Given the description of an element on the screen output the (x, y) to click on. 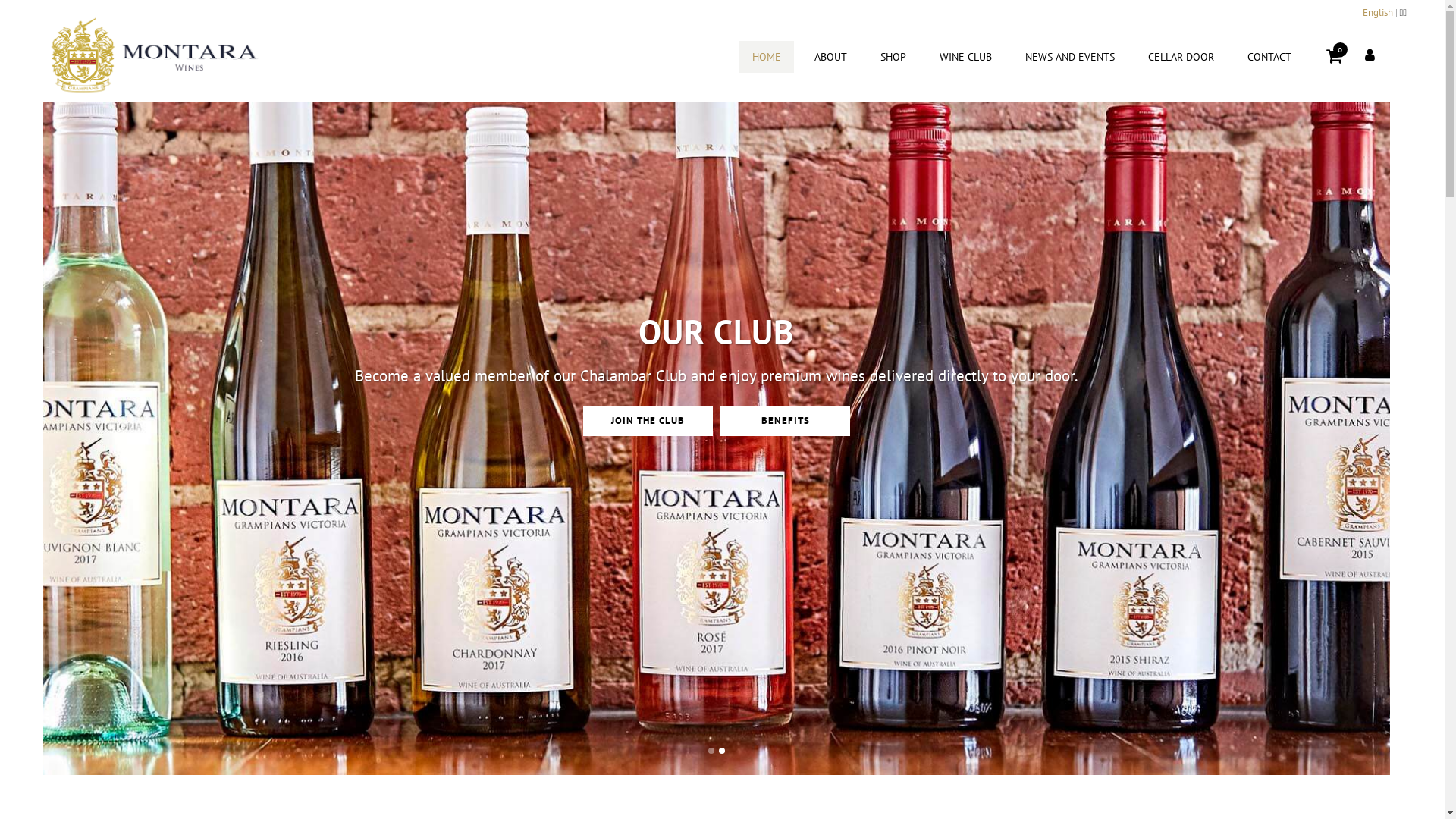
CELLAR DOOR Element type: text (1180, 56)
NEWS AND EVENTS Element type: text (1069, 56)
CONTACT Element type: text (1269, 56)
English Element type: text (1376, 12)
BENEFITS Element type: text (785, 446)
0 Element type: text (1334, 56)
ABOUT Element type: text (830, 56)
WINE CLUB Element type: text (965, 56)
JOIN THE CLUB Element type: text (647, 450)
HOME Element type: text (766, 56)
SHOP Element type: text (892, 56)
